Given the description of an element on the screen output the (x, y) to click on. 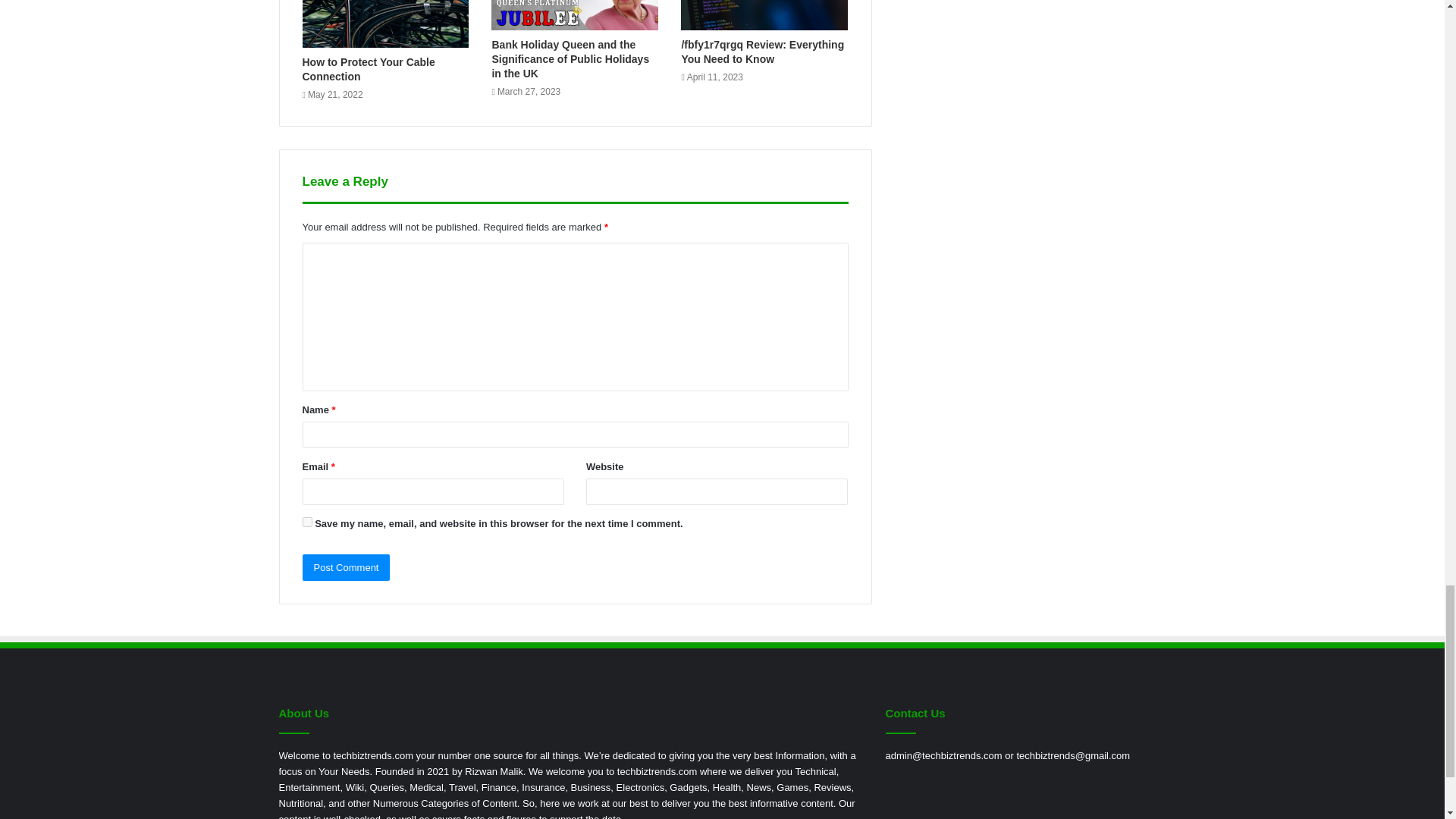
yes (306, 521)
Post Comment (345, 567)
